Given the description of an element on the screen output the (x, y) to click on. 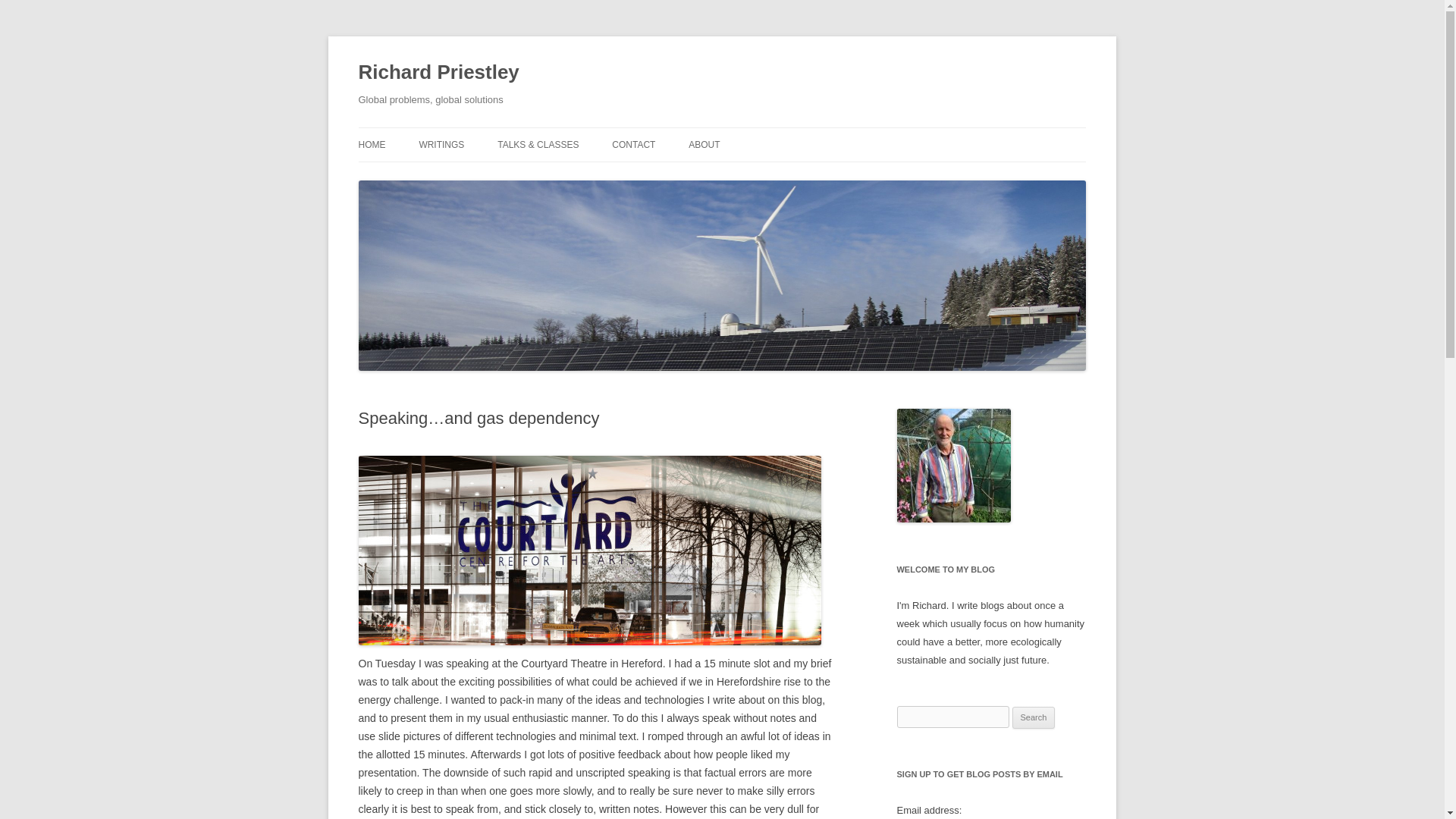
CONTACT (633, 144)
WRITINGS (441, 144)
Richard Priestley (438, 72)
Search (1033, 717)
CourtyardatNight (589, 550)
Search (1033, 717)
Richard Priestley (438, 72)
ABOUT (703, 144)
